Given the description of an element on the screen output the (x, y) to click on. 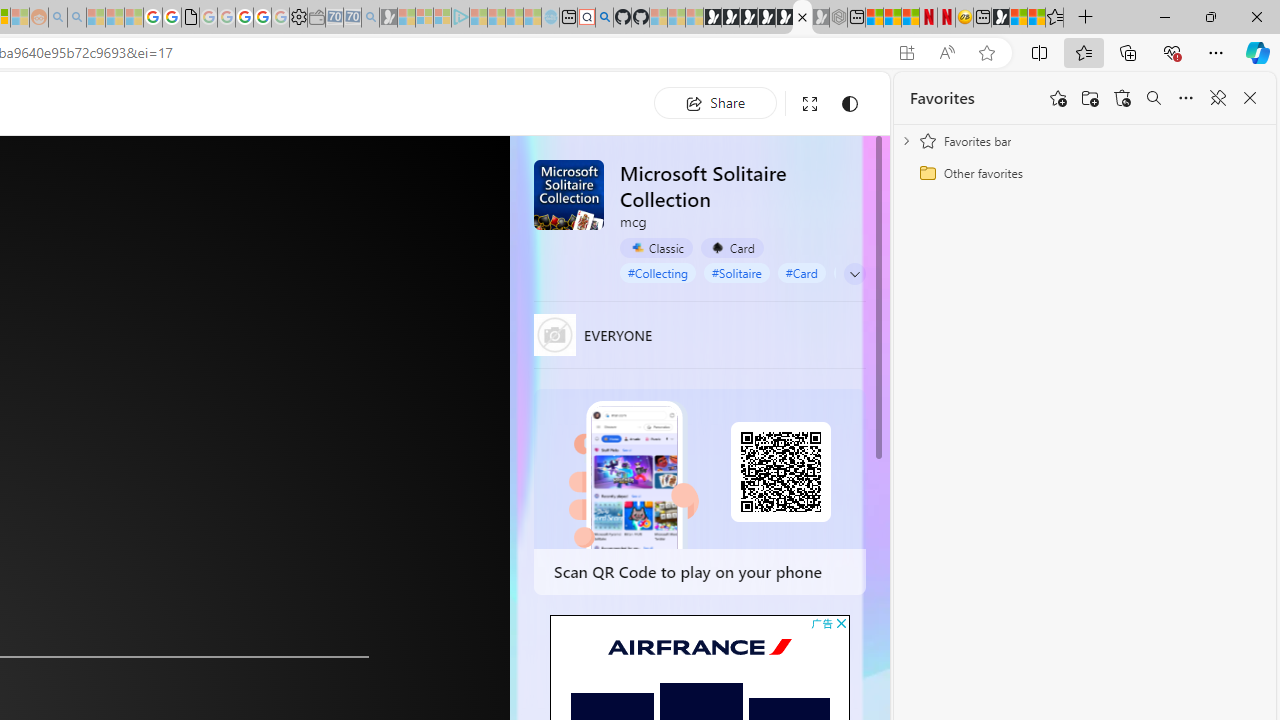
Play Cave FRVR in your browser | Games from Microsoft Start (747, 17)
Wildlife - MSN (1017, 17)
Class: expand-arrow neutral (854, 273)
